Given the description of an element on the screen output the (x, y) to click on. 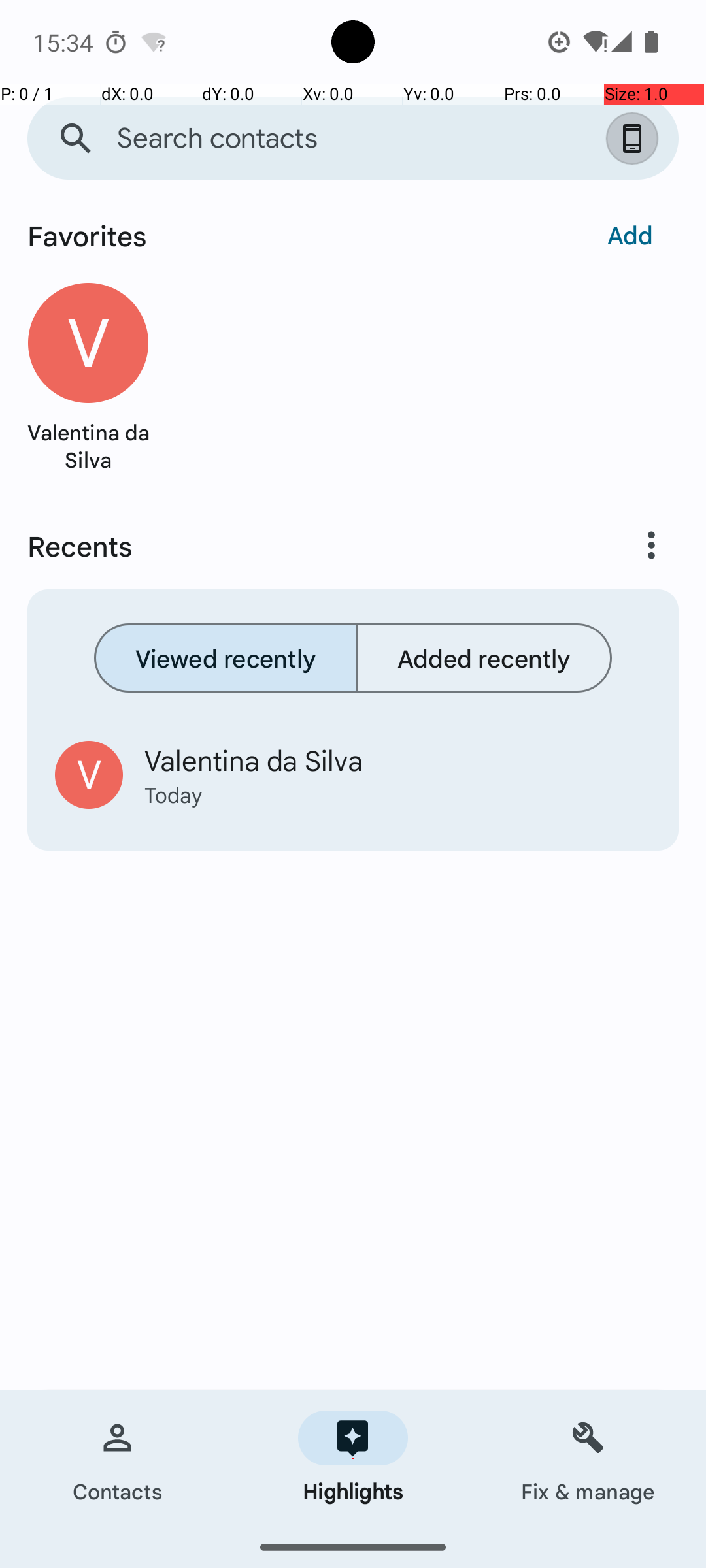
Valentina da Silva Element type: android.widget.TextView (88, 444)
